Given the description of an element on the screen output the (x, y) to click on. 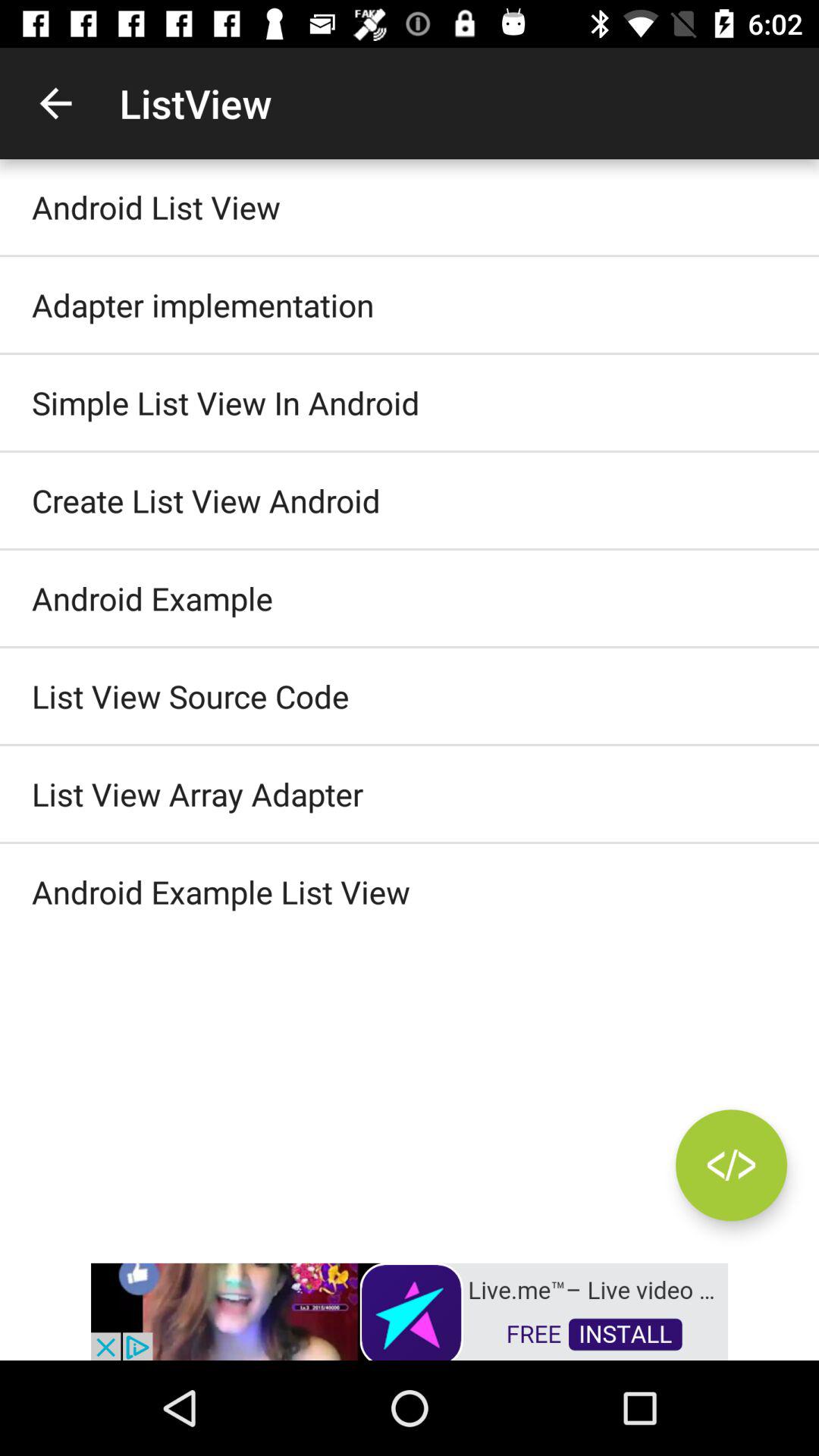
advertisement (409, 1310)
